Given the description of an element on the screen output the (x, y) to click on. 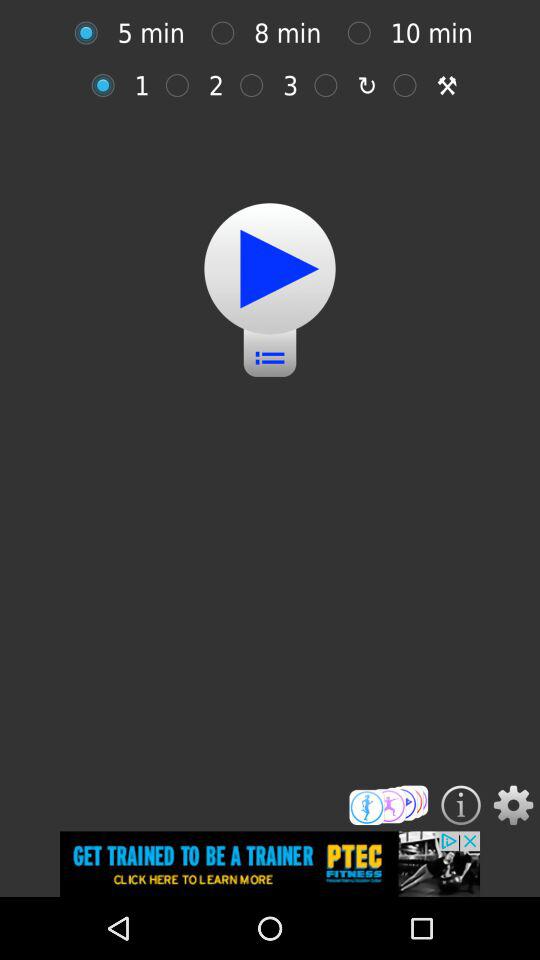
play the item (269, 268)
